Given the description of an element on the screen output the (x, y) to click on. 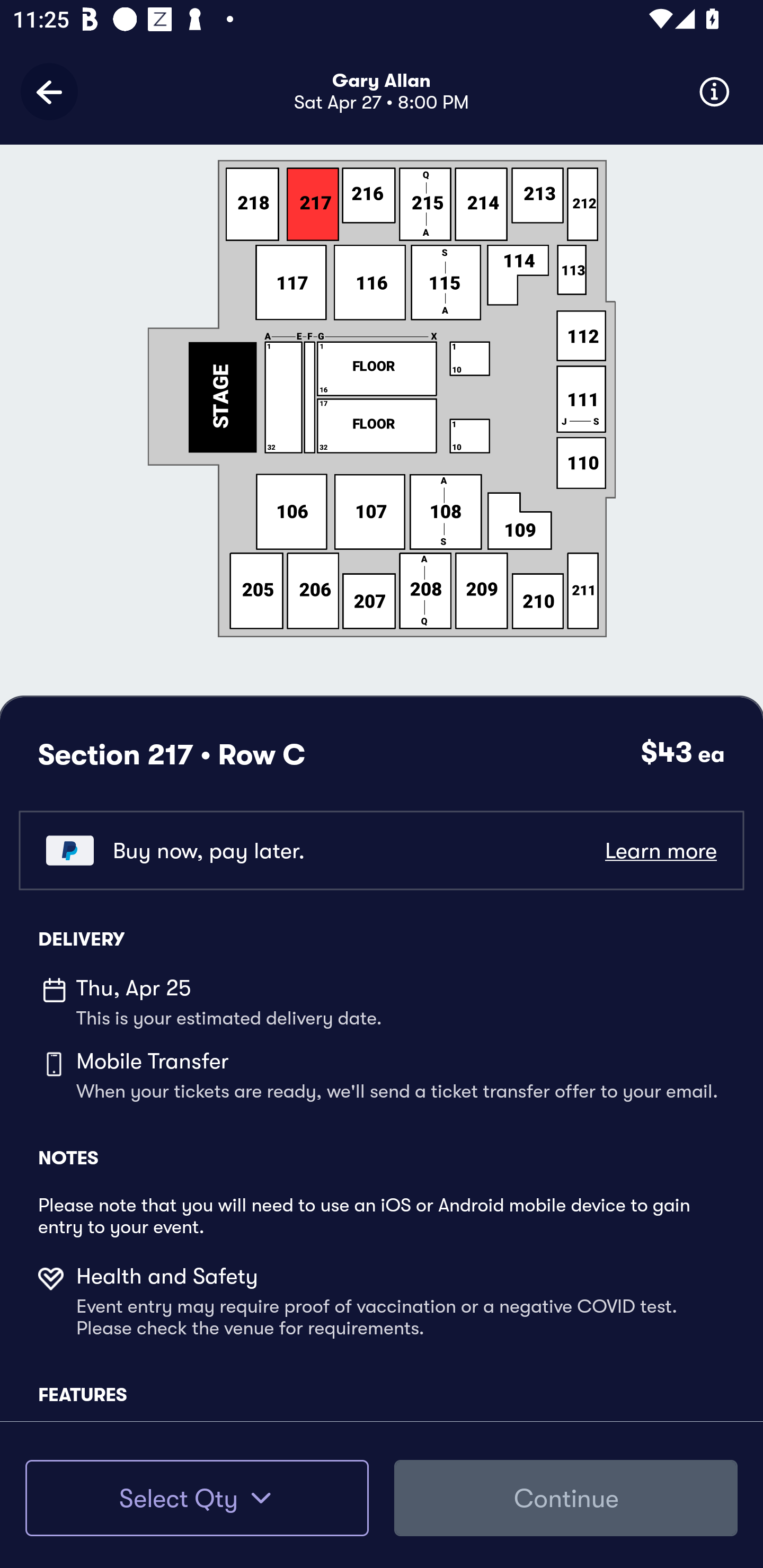
Learn more (660, 850)
Select Qty (196, 1497)
Continue (565, 1497)
